Given the description of an element on the screen output the (x, y) to click on. 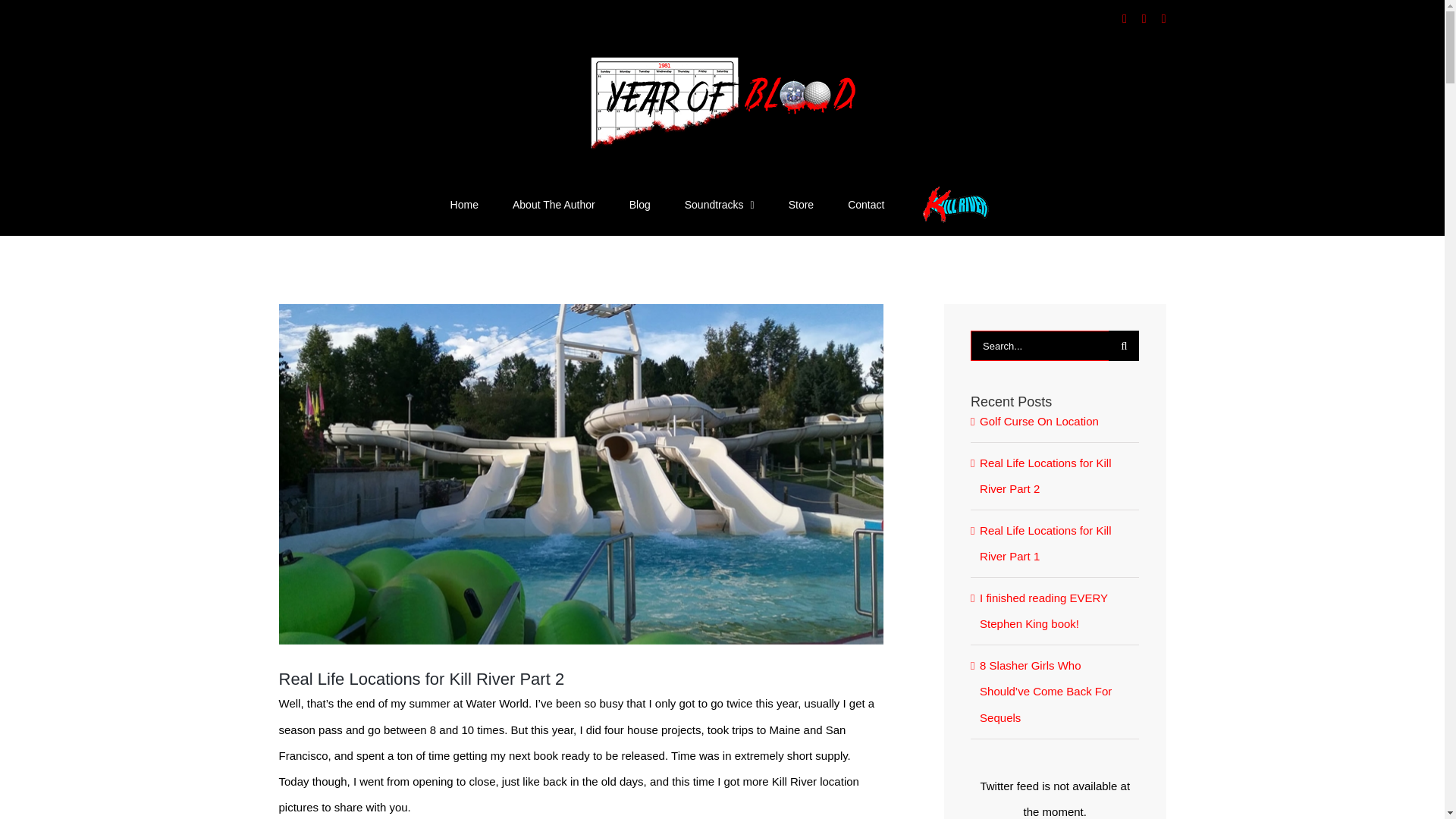
About The Author (553, 204)
Soundtracks (719, 204)
